Given the description of an element on the screen output the (x, y) to click on. 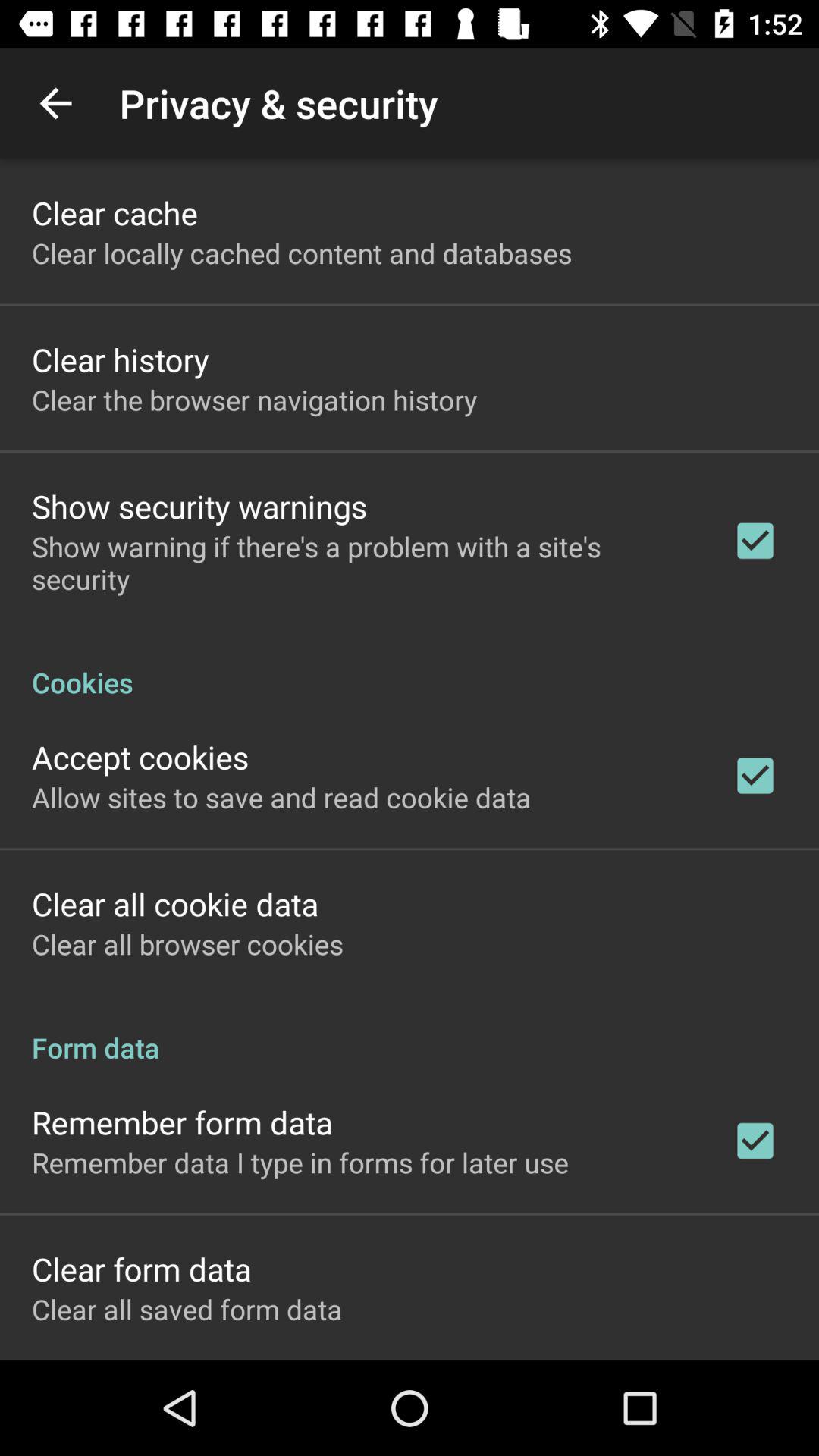
click item above the allow sites to (140, 756)
